Given the description of an element on the screen output the (x, y) to click on. 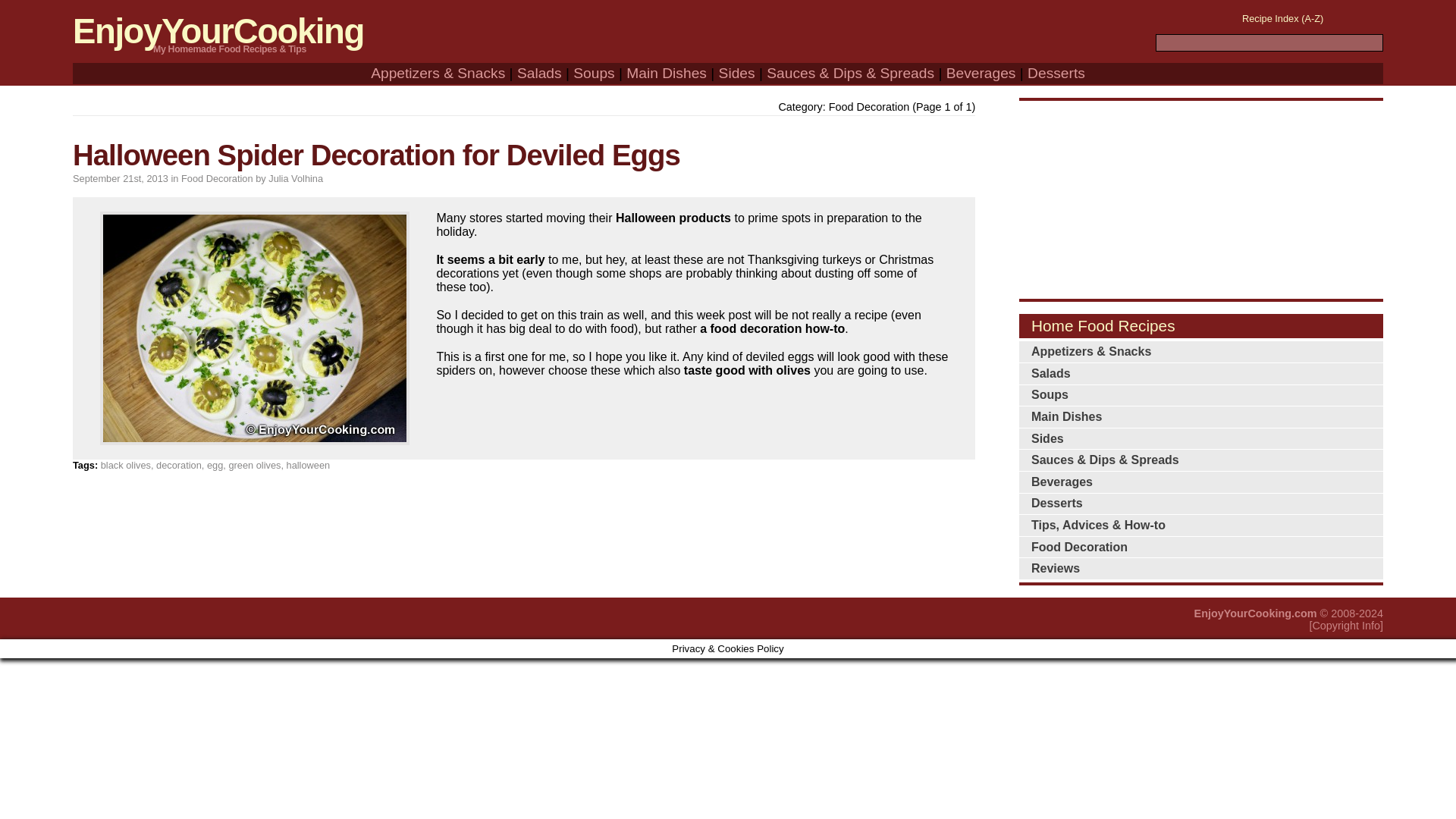
Follow EnjoyYourCooking on Twitter (1341, 15)
halloween (308, 464)
Copyright Info (1345, 625)
Beverages (981, 73)
Desserts (1055, 73)
Beverage Recipes (981, 73)
Soups (593, 73)
Beverages (1201, 482)
Food Decoration (1201, 547)
